Given the description of an element on the screen output the (x, y) to click on. 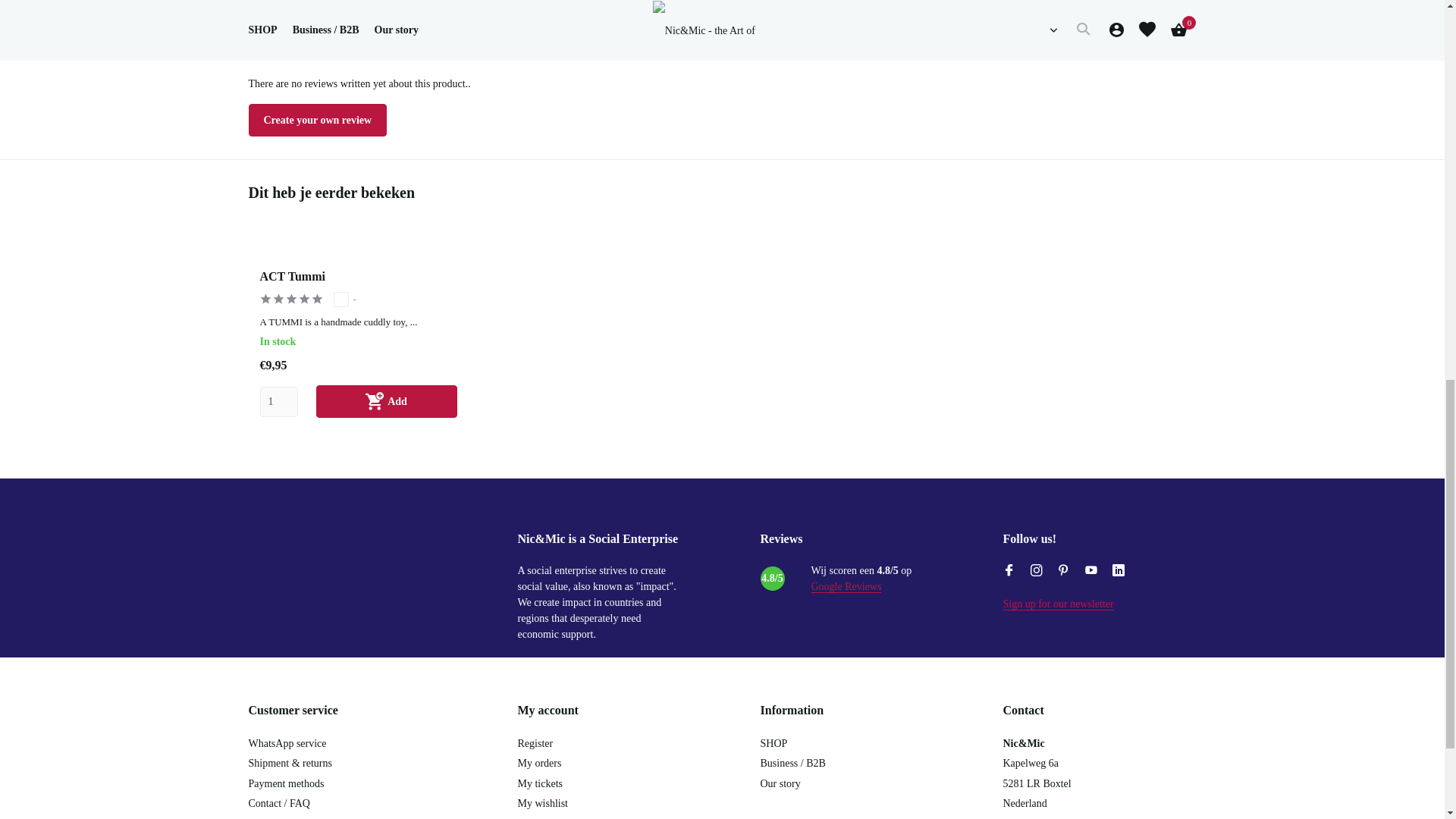
1 (278, 401)
linkedin2 (1118, 570)
